Given the description of an element on the screen output the (x, y) to click on. 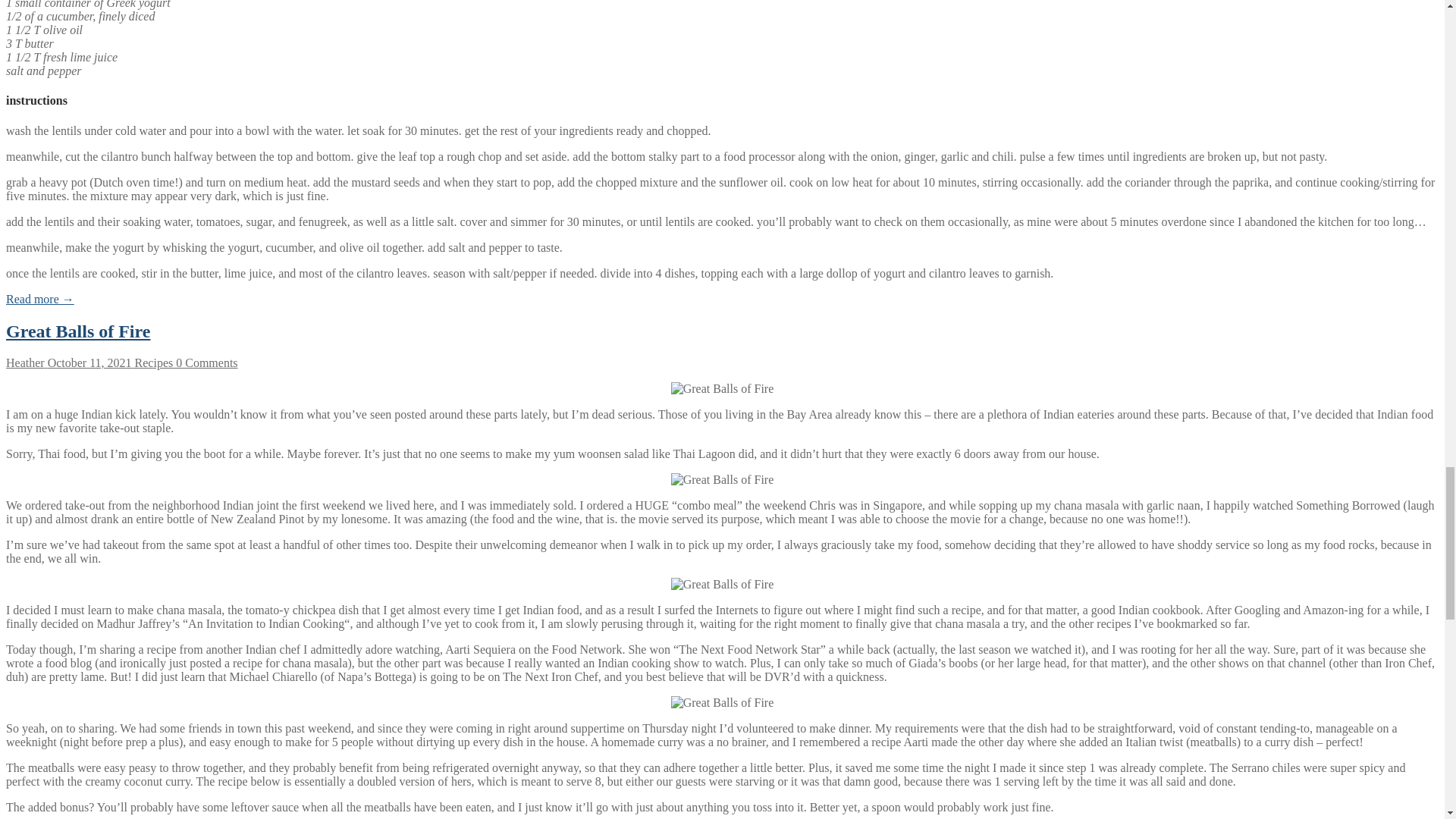
Great Balls of Fire (77, 331)
Great Balls of Fire (77, 331)
